Given the description of an element on the screen output the (x, y) to click on. 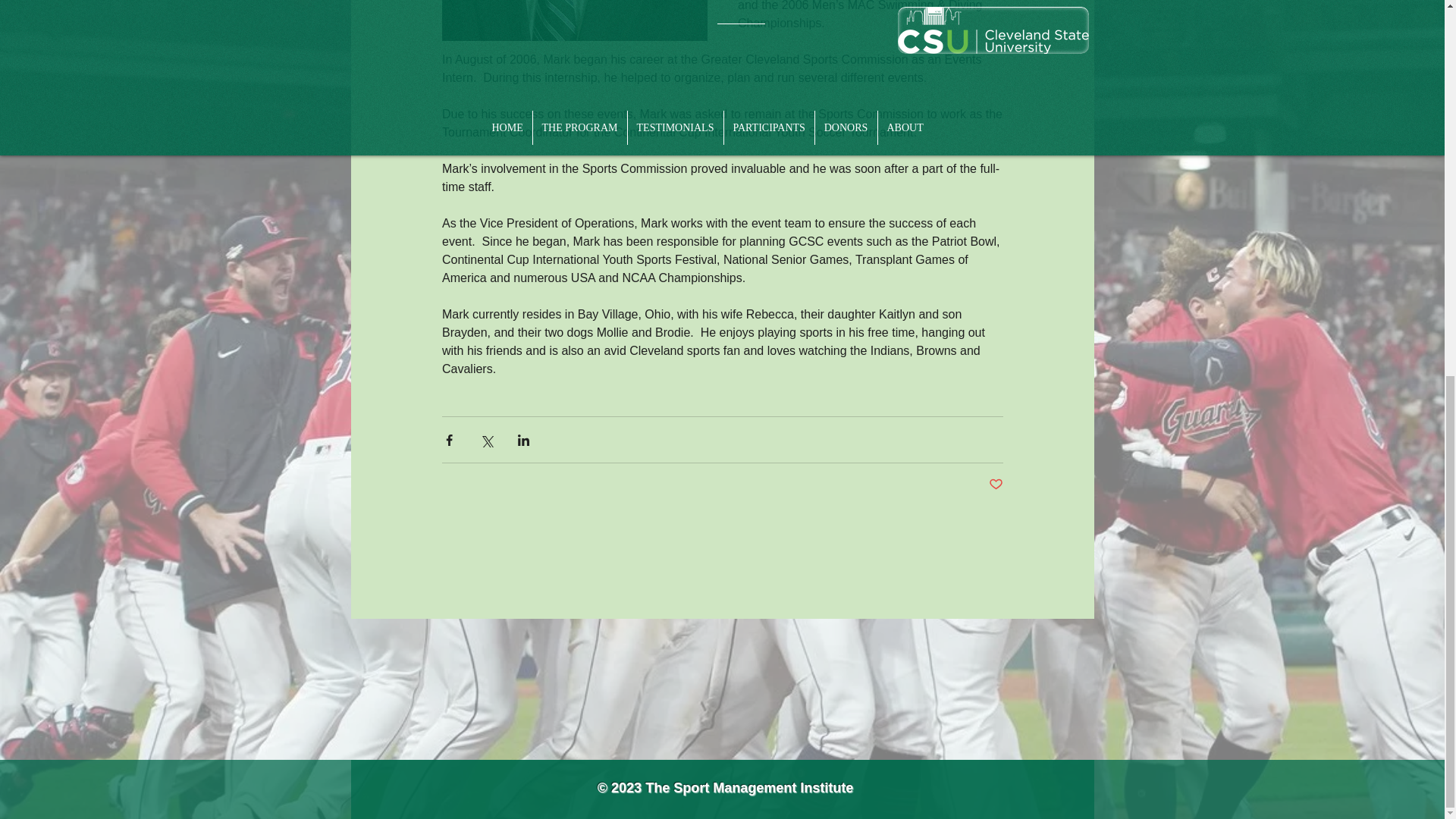
Post not marked as liked (995, 484)
